Given the description of an element on the screen output the (x, y) to click on. 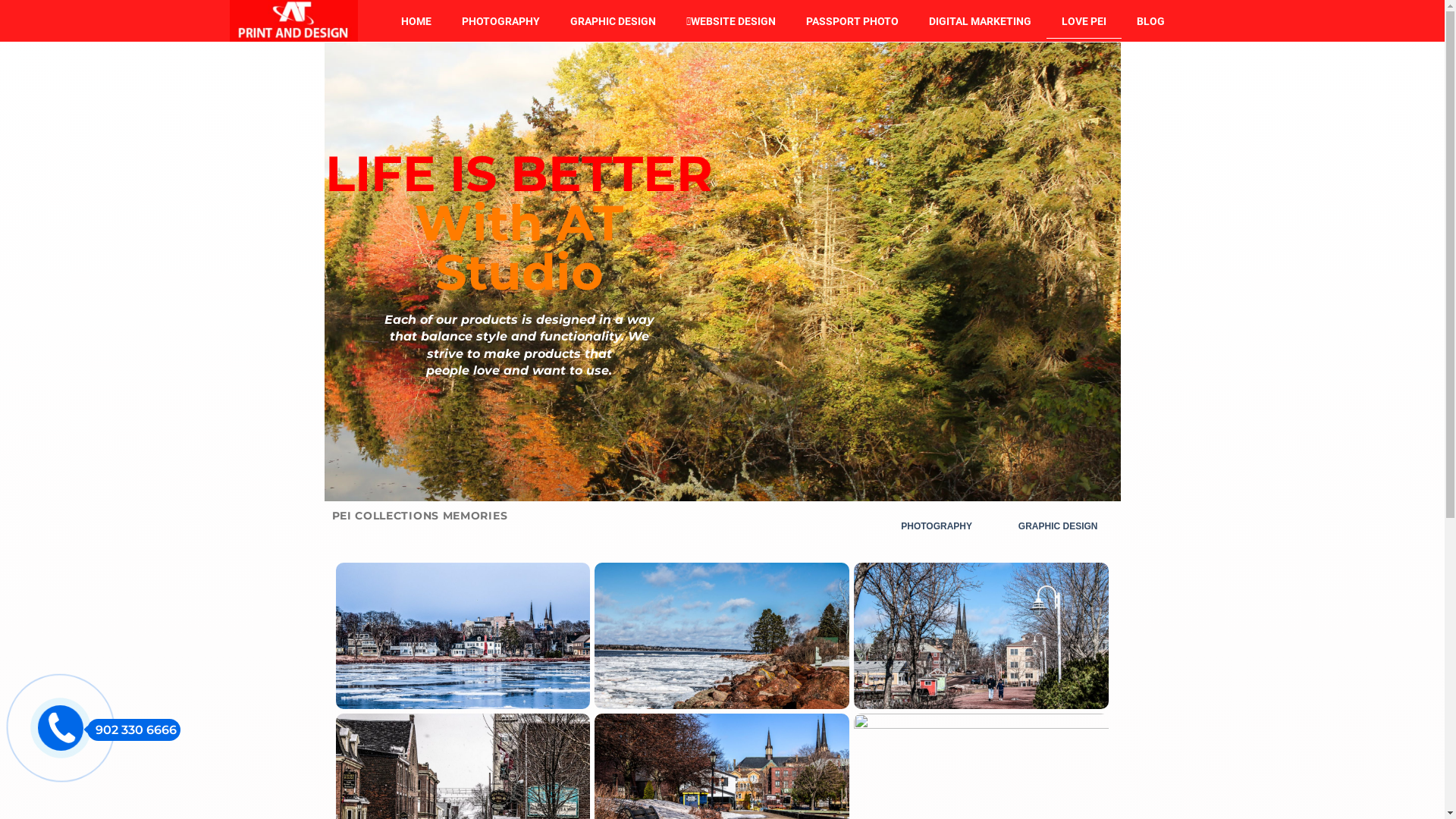
PASSPORT PHOTO Element type: text (851, 20)
LOVE PEI Element type: text (1083, 20)
PHOTOGRAPHY Element type: text (500, 20)
HOME Element type: text (415, 20)
WEBSITE DESIGN Element type: text (730, 20)
GRAPHIC DESIGN Element type: text (1058, 525)
BLOG Element type: text (1150, 20)
GRAPHIC DESIGN Element type: text (613, 20)
z3349637143201_2fef90e0e283dcdcfebf3f064e90dbb4 Element type: hover (293, 20)
DIGITAL MARKETING Element type: text (979, 20)
902 330 6666 Element type: text (133, 729)
PHOTOGRAPHY Element type: text (936, 525)
